Given the description of an element on the screen output the (x, y) to click on. 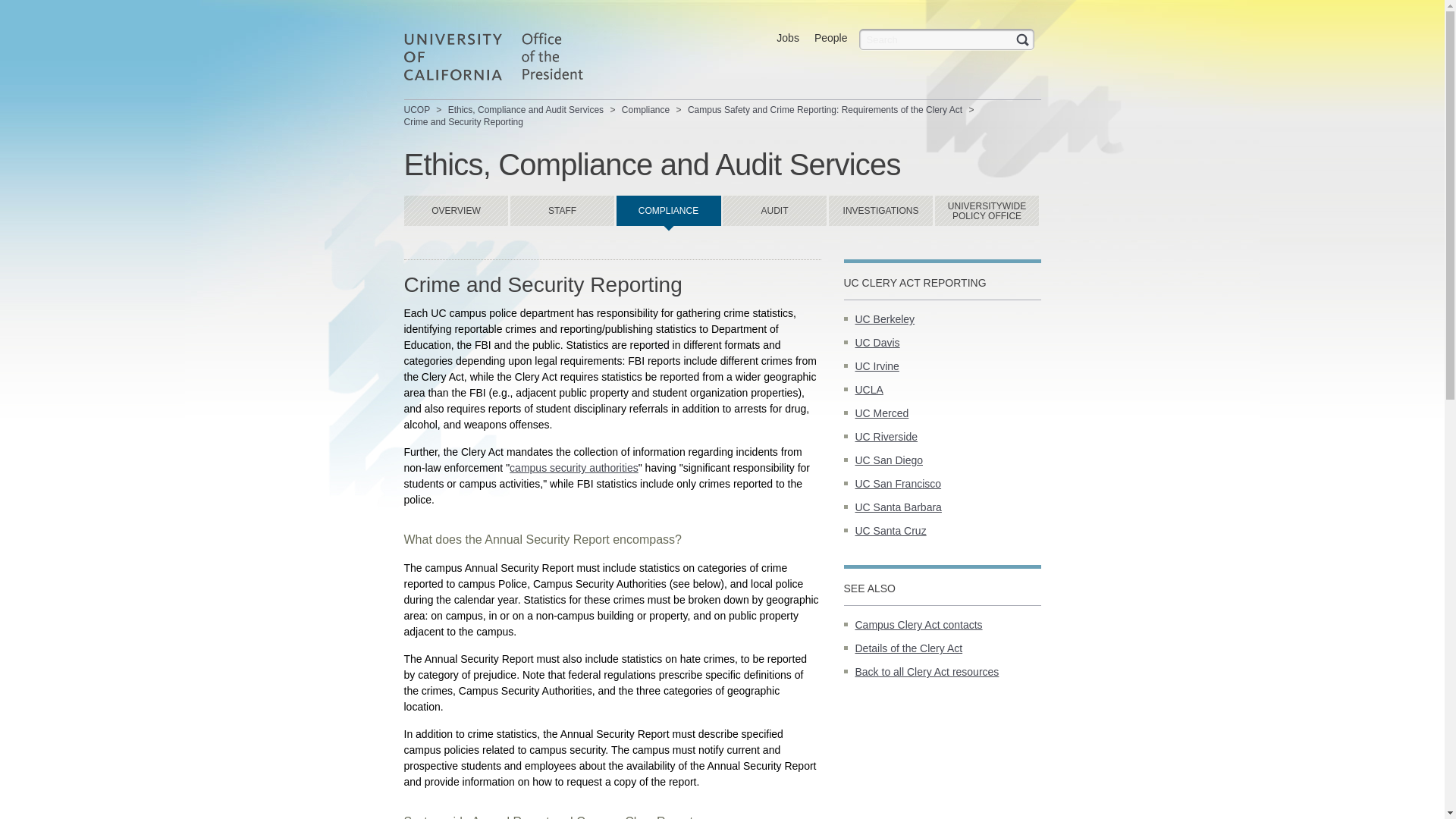
Ethics, Compliance and Audit Services (526, 109)
UCLA (869, 389)
UC Merced (882, 413)
Campus Clery Act contacts (919, 624)
UC San Francisco (899, 483)
Back to all Clery Act resources (927, 671)
UC Santa Cruz (891, 530)
Details of the Clery Act (909, 648)
UC San Diego (889, 460)
